Given the description of an element on the screen output the (x, y) to click on. 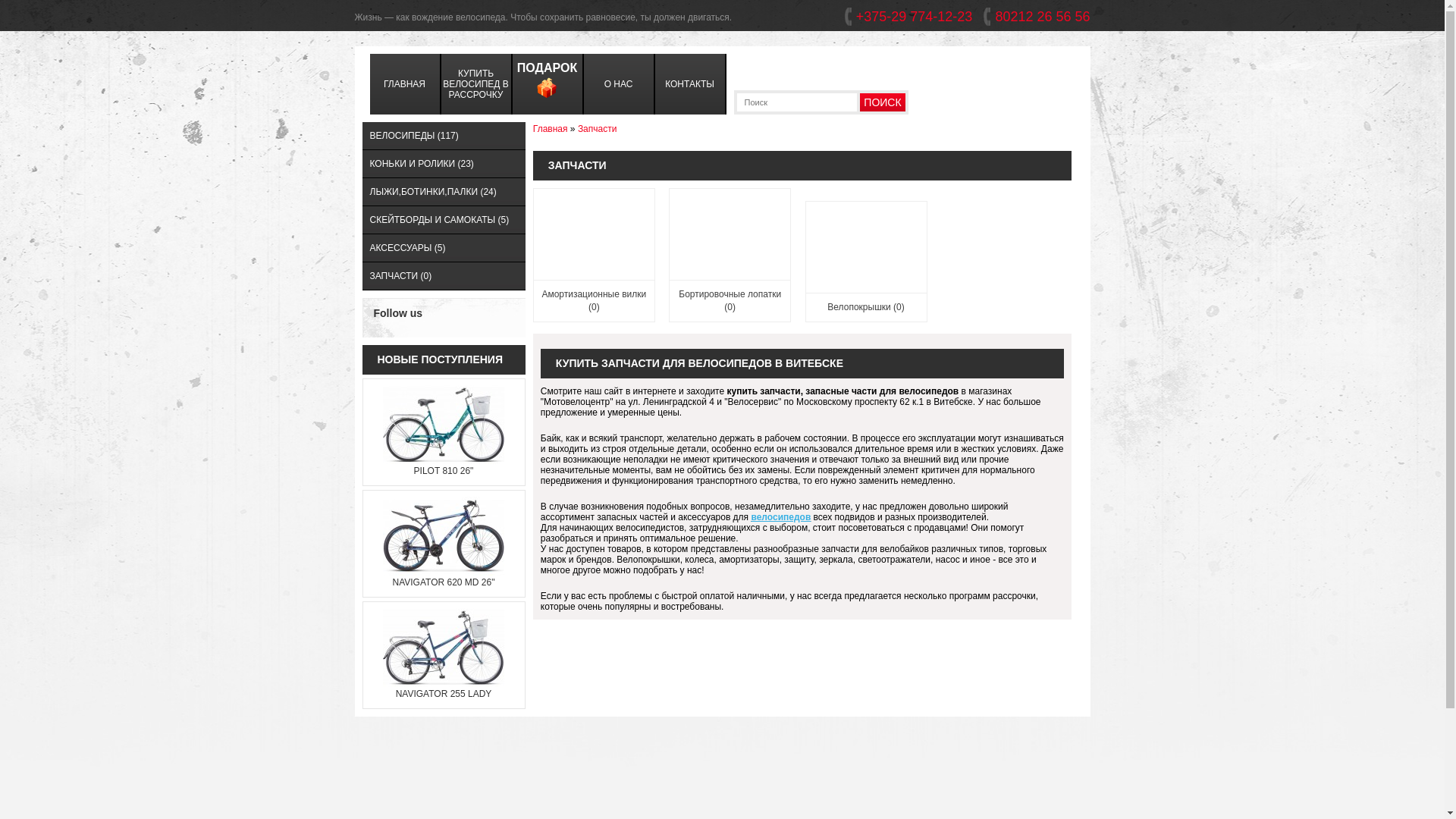
PILOT 810 26" Element type: text (443, 470)
NAVIGATOR 620 MD 26" Element type: text (443, 582)
NAVIGATOR 255 LADY Element type: text (443, 693)
